Given the description of an element on the screen output the (x, y) to click on. 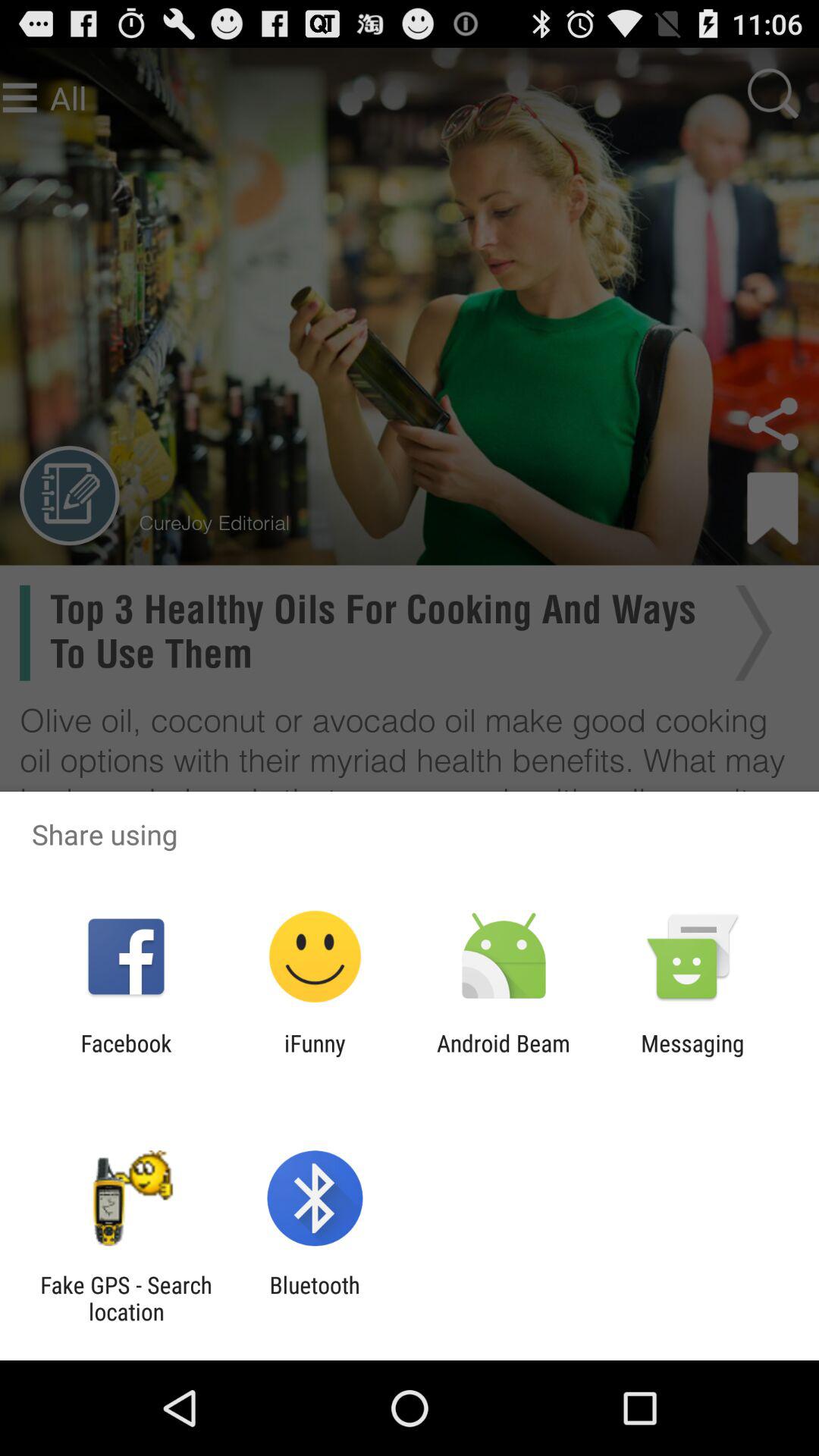
swipe to the fake gps search item (125, 1298)
